Given the description of an element on the screen output the (x, y) to click on. 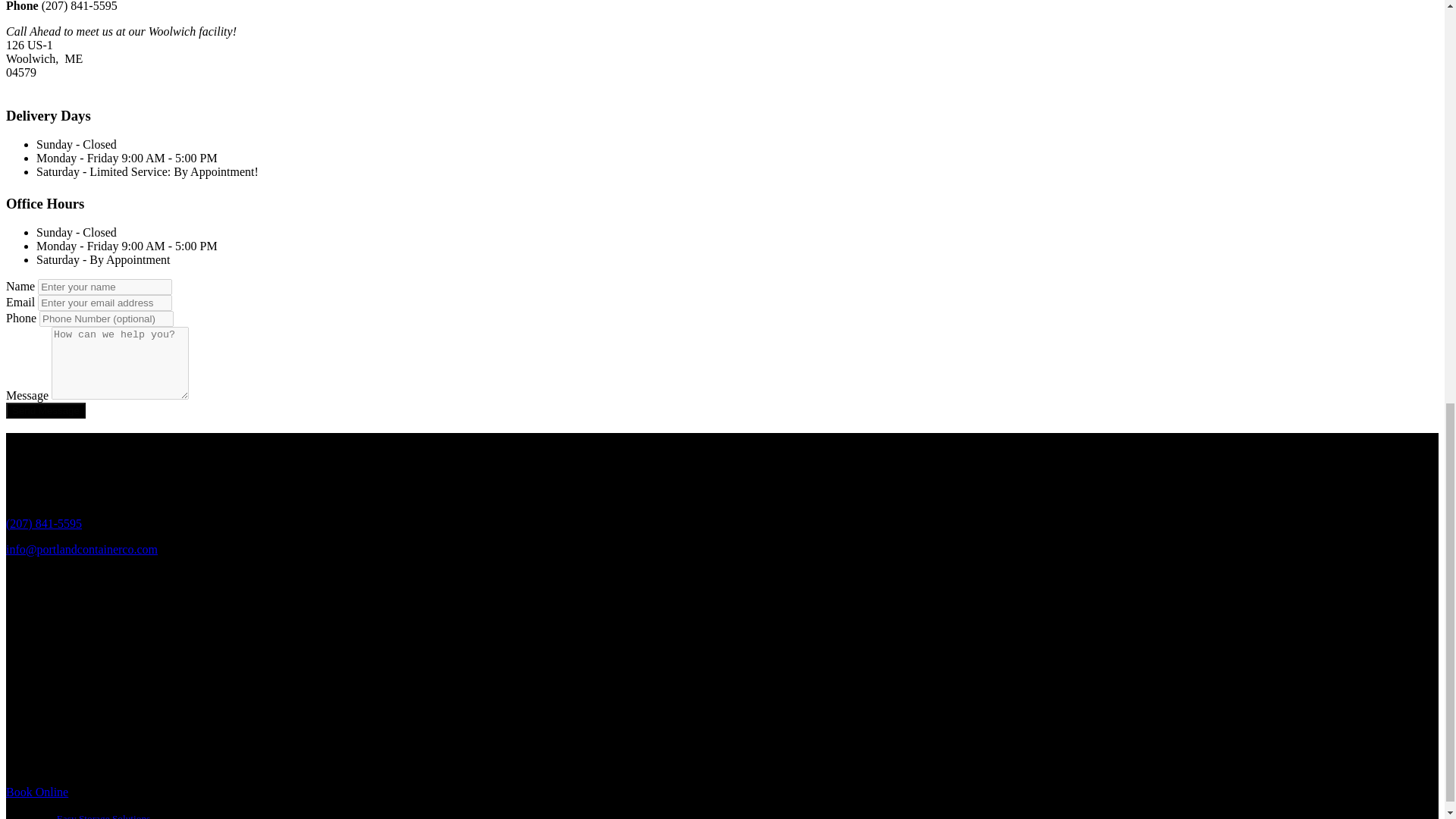
Send Message (45, 410)
Send Message (45, 410)
Book Online (36, 791)
